Given the description of an element on the screen output the (x, y) to click on. 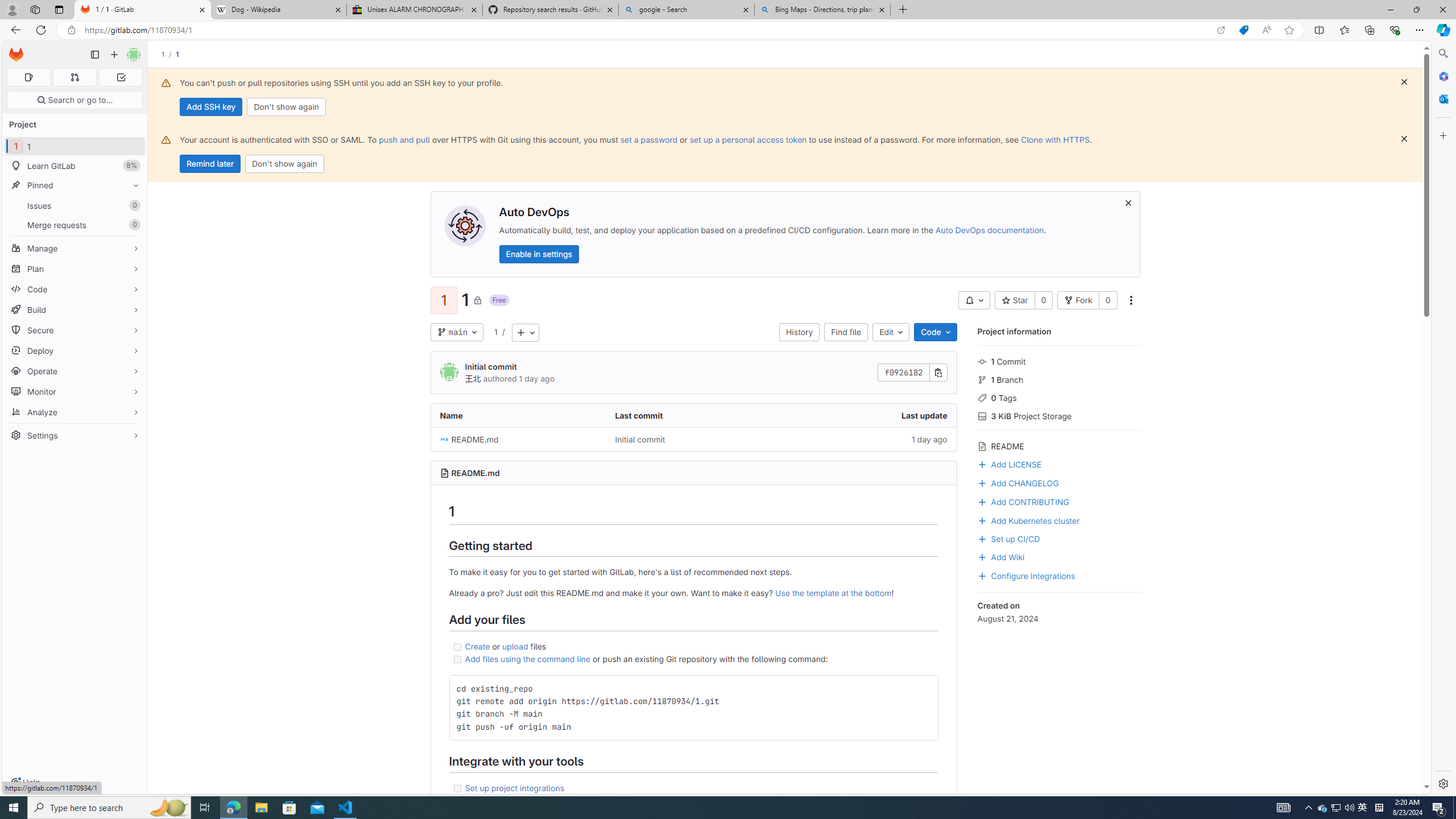
1 (495, 332)
Analyze (74, 411)
1 1 (74, 145)
Class: s16 gl-blue-500! gl-mr-3 (981, 575)
Configure Integrations (1058, 574)
Issues 0 (74, 205)
Code (74, 289)
1 day ago (868, 439)
1/ (168, 53)
Add CONTRIBUTING (1058, 501)
Don't show again (284, 163)
